Given the description of an element on the screen output the (x, y) to click on. 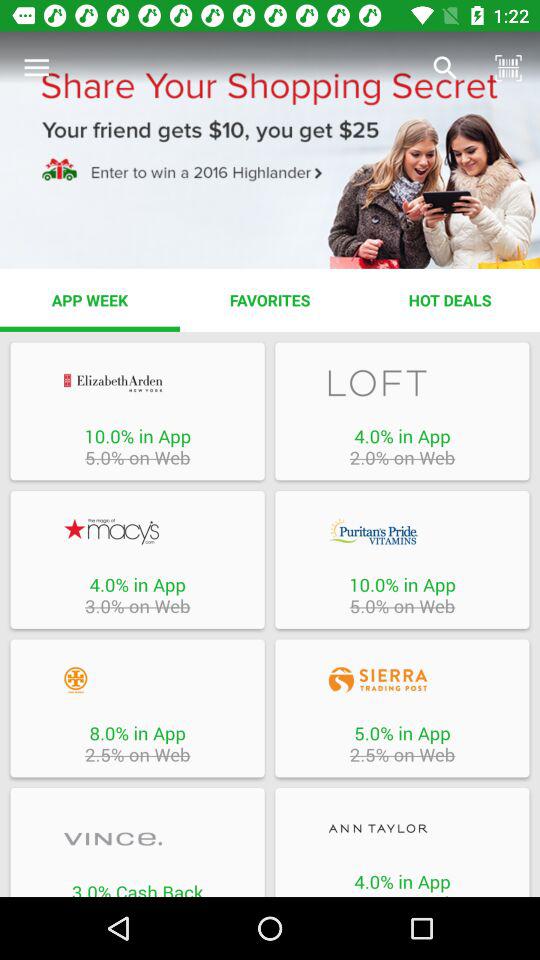
link to website (402, 828)
